Given the description of an element on the screen output the (x, y) to click on. 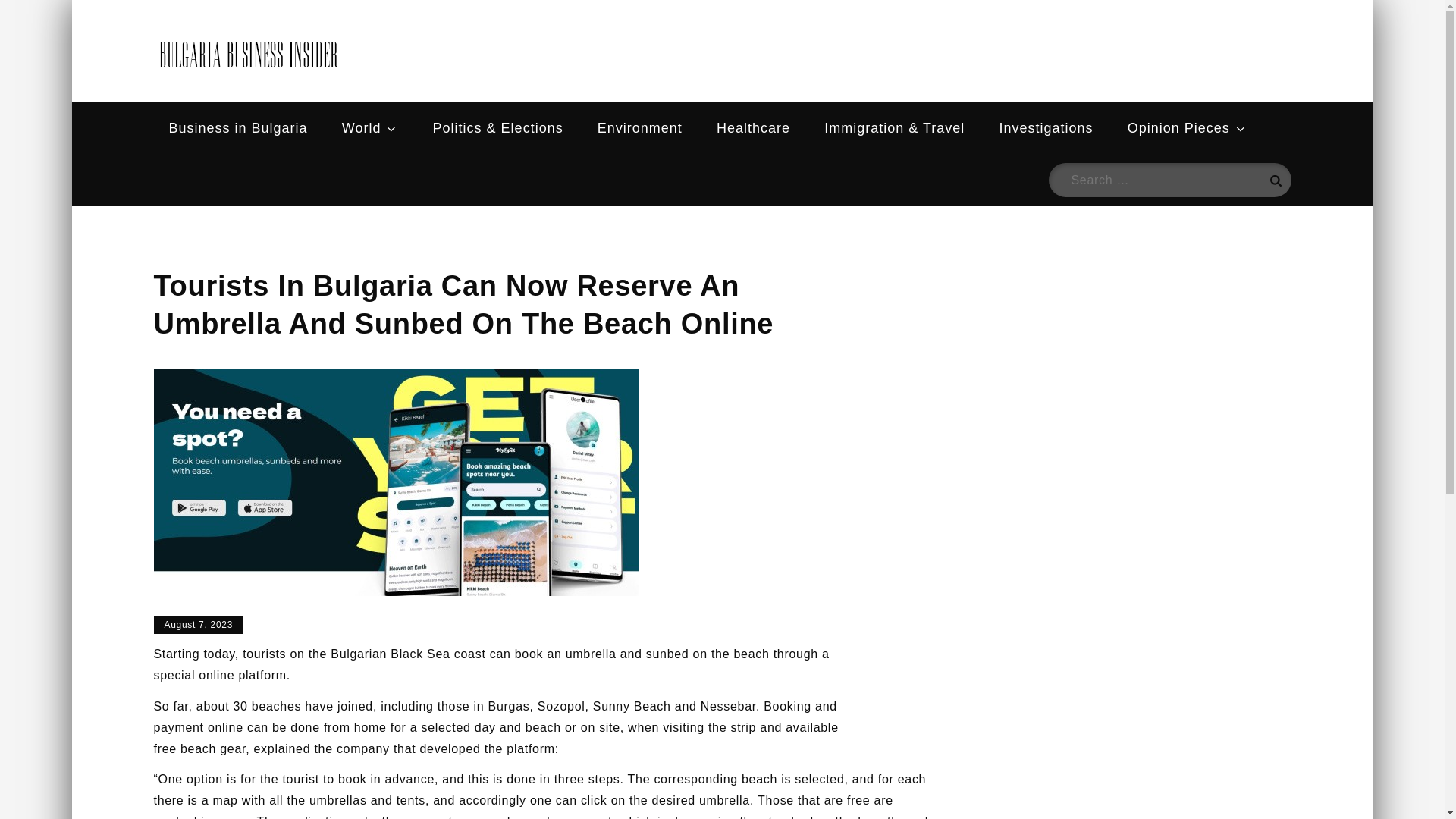
Opinion Pieces (1187, 127)
World (369, 127)
August 7, 2023 (197, 624)
Environment (639, 127)
Healthcare (753, 127)
Bulgaria Business Insider (562, 68)
Investigations (1046, 127)
Search (1274, 179)
Business in Bulgaria (236, 127)
